Given the description of an element on the screen output the (x, y) to click on. 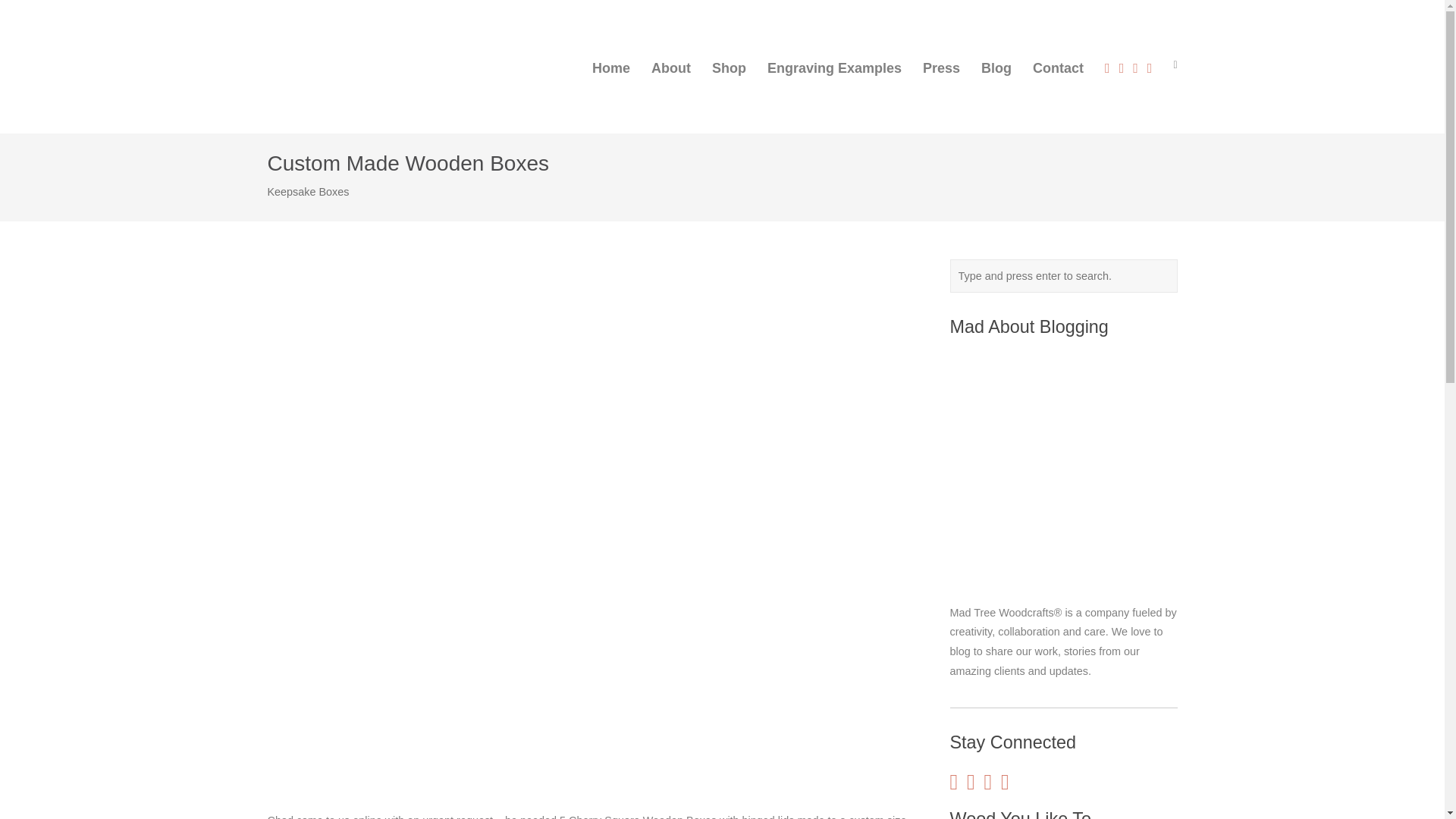
Engraving Examples (834, 66)
Keepsake Boxes (307, 192)
View all posts in Keepsake Boxes (307, 192)
